Given the description of an element on the screen output the (x, y) to click on. 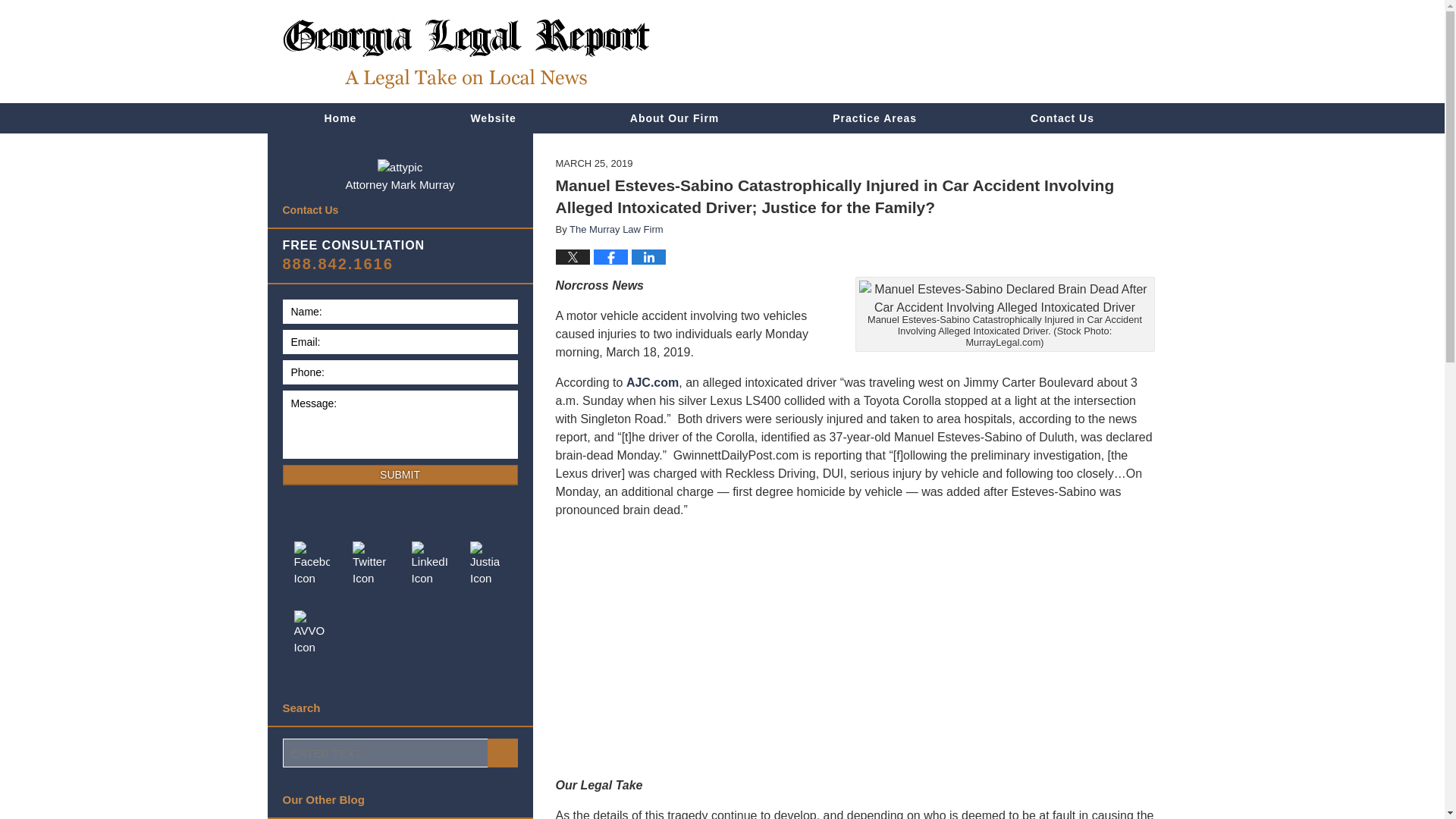
Facebook (311, 564)
Website (492, 118)
SEARCH (501, 752)
Twitter (370, 564)
Practice Areas (875, 118)
Georgia Legal Report (465, 53)
About Our Firm (674, 118)
Home (339, 118)
Please enter a valid phone number. (399, 372)
Published By The Murray Law Firm, LLC (1068, 51)
Justia (488, 564)
AJC.com (652, 382)
AVVO (311, 633)
LinkedIn (430, 564)
SUBMIT (399, 475)
